Given the description of an element on the screen output the (x, y) to click on. 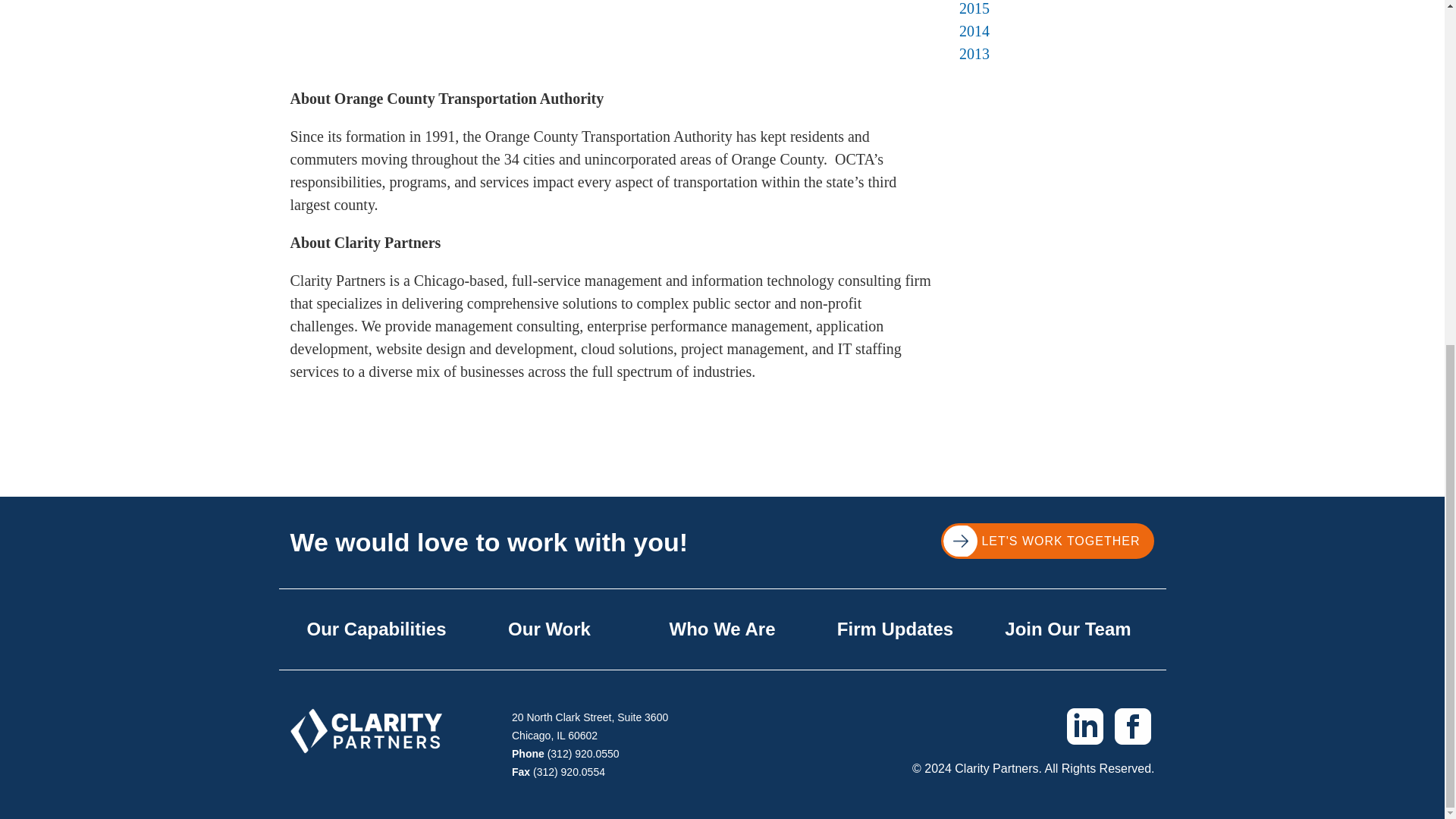
Join Us on LinkedIn (1083, 724)
Like Us on Facebook (1133, 724)
